Given the description of an element on the screen output the (x, y) to click on. 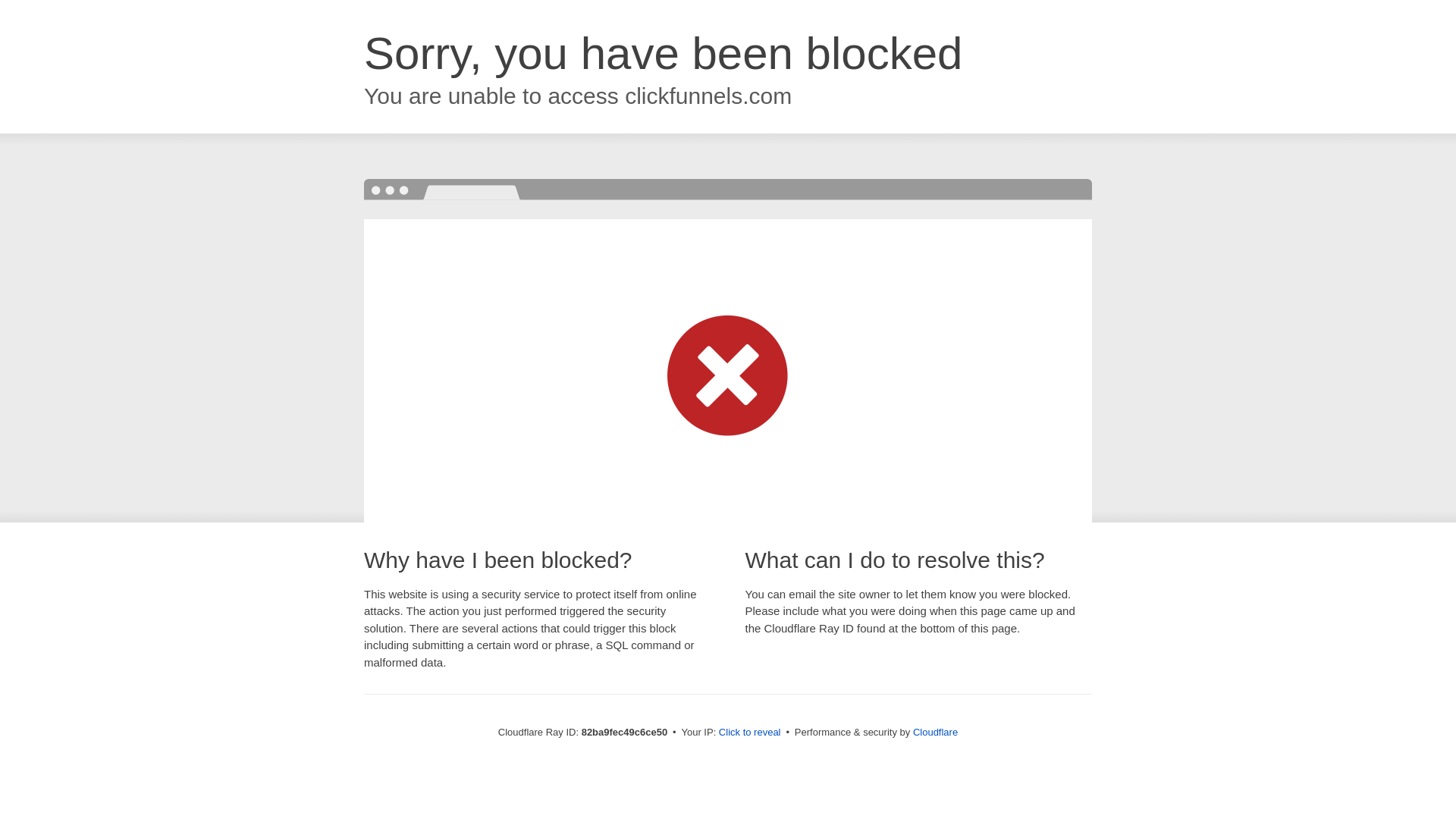
Cloudflare Element type: text (935, 731)
Click to reveal Element type: text (749, 732)
